Given the description of an element on the screen output the (x, y) to click on. 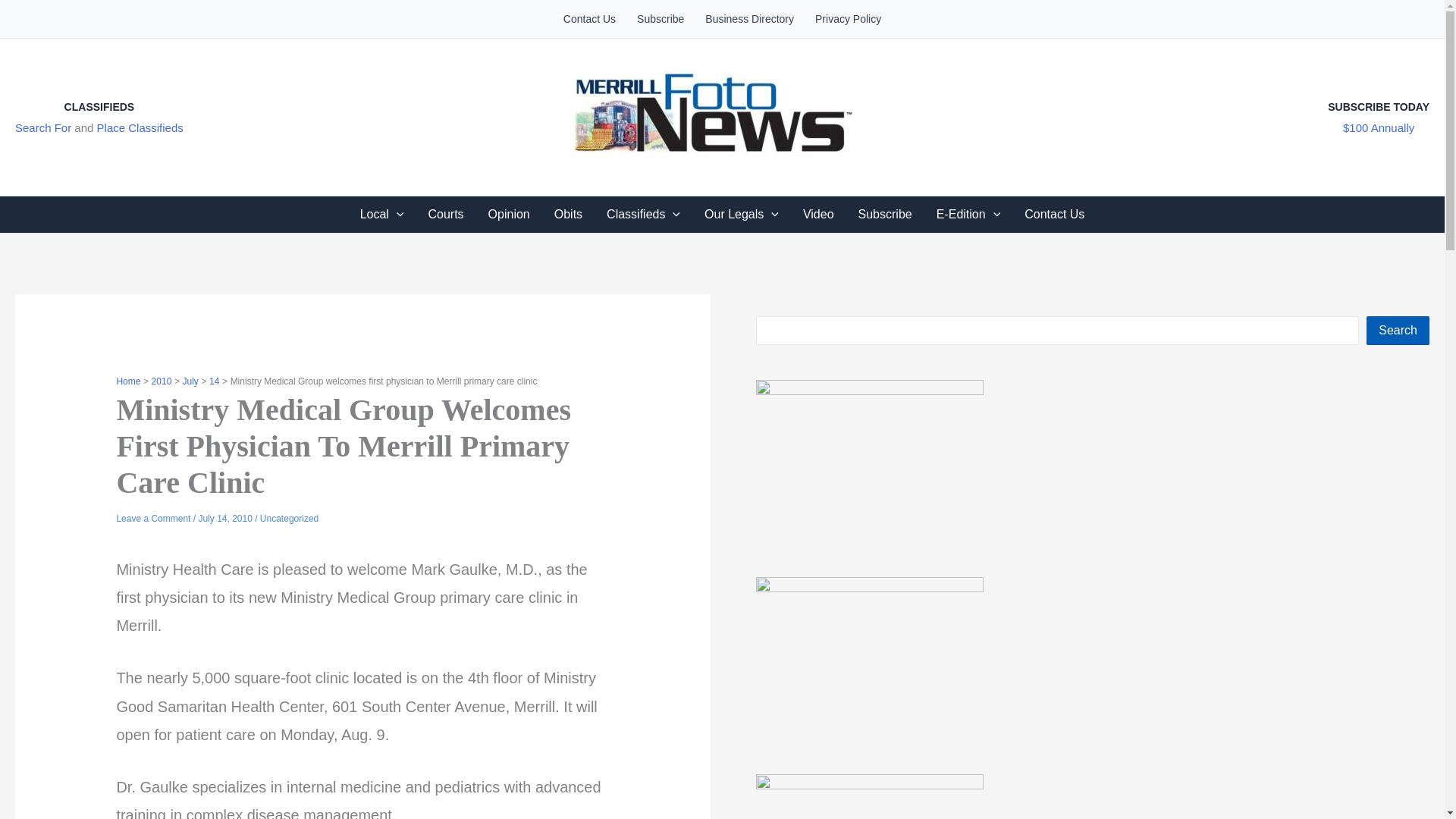
Opinion (508, 214)
Video (817, 214)
E-Edition (968, 214)
Courts (445, 214)
Search For (42, 127)
Subscribe (884, 214)
Classifieds (643, 214)
Local (381, 214)
Subscribe (660, 18)
Contact Us (589, 18)
